Given the description of an element on the screen output the (x, y) to click on. 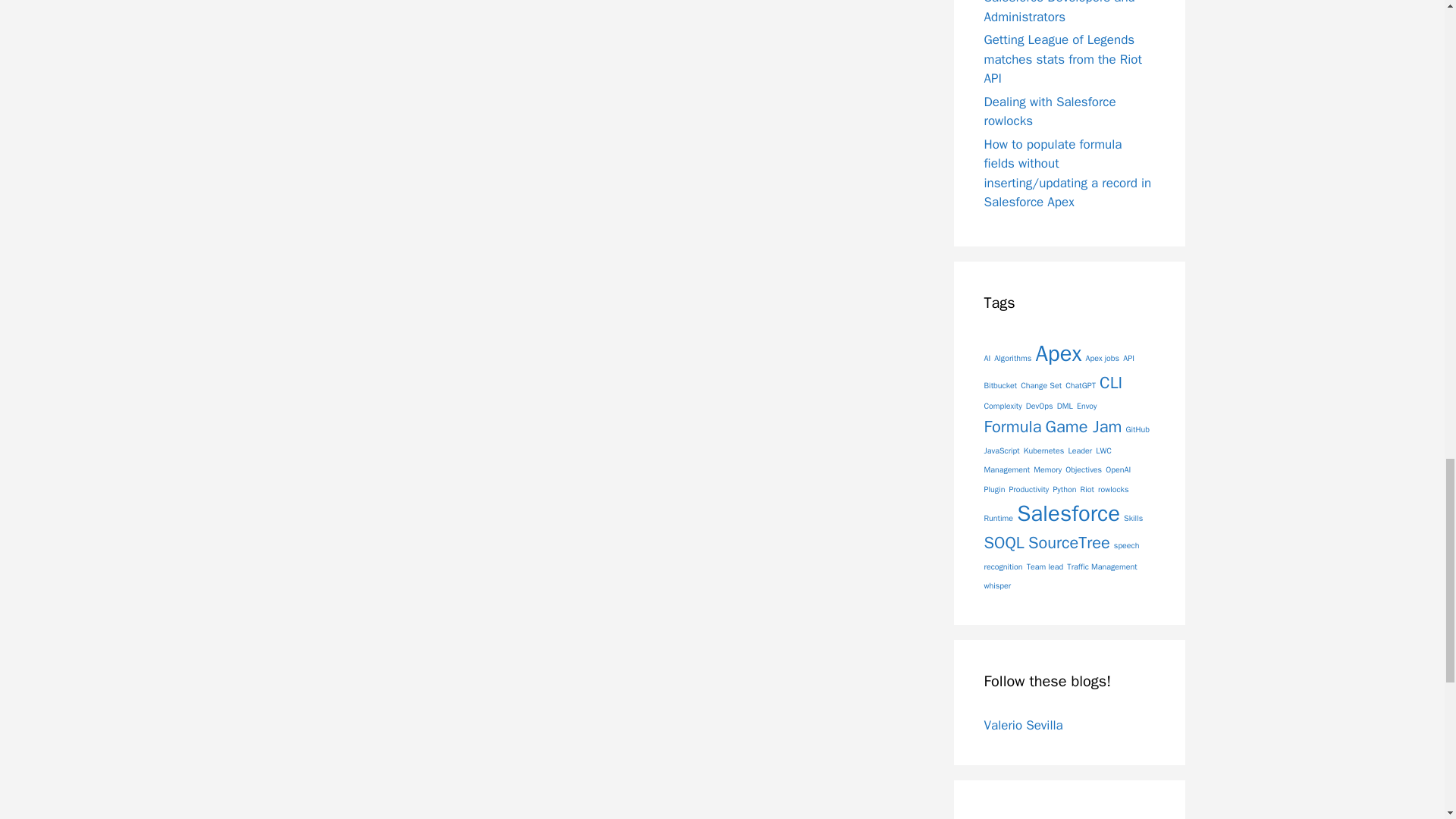
Apex (1058, 353)
Getting League of Legends matches stats from the Riot API (1062, 58)
Algorithms (1012, 357)
Bitbucket (1000, 385)
Change Set (1040, 385)
Apex jobs (1101, 357)
Dealing with Salesforce rowlocks (1050, 111)
API (1128, 357)
